Given the description of an element on the screen output the (x, y) to click on. 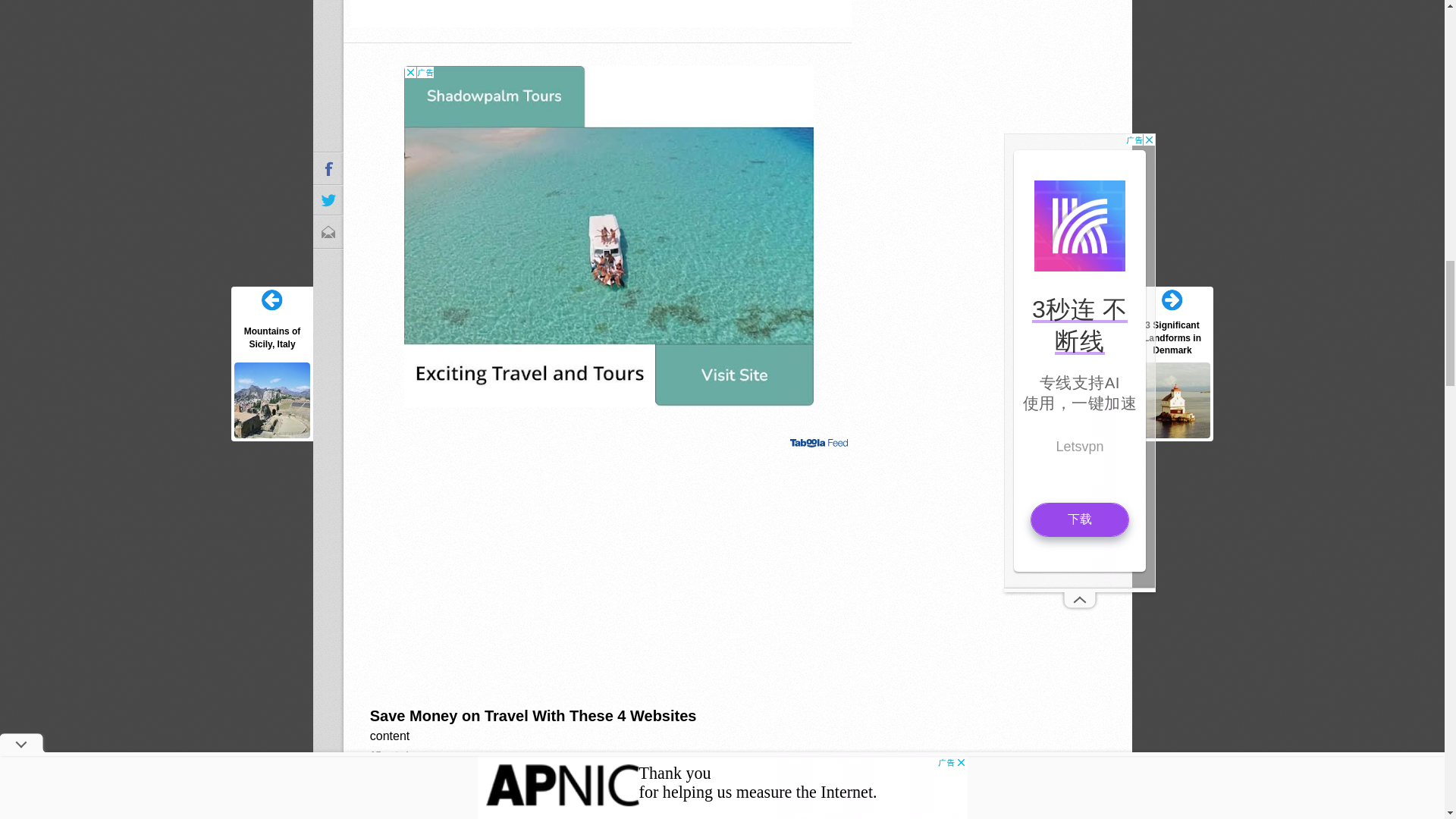
Save Money on Travel With These 4 Websites (608, 734)
